Given the description of an element on the screen output the (x, y) to click on. 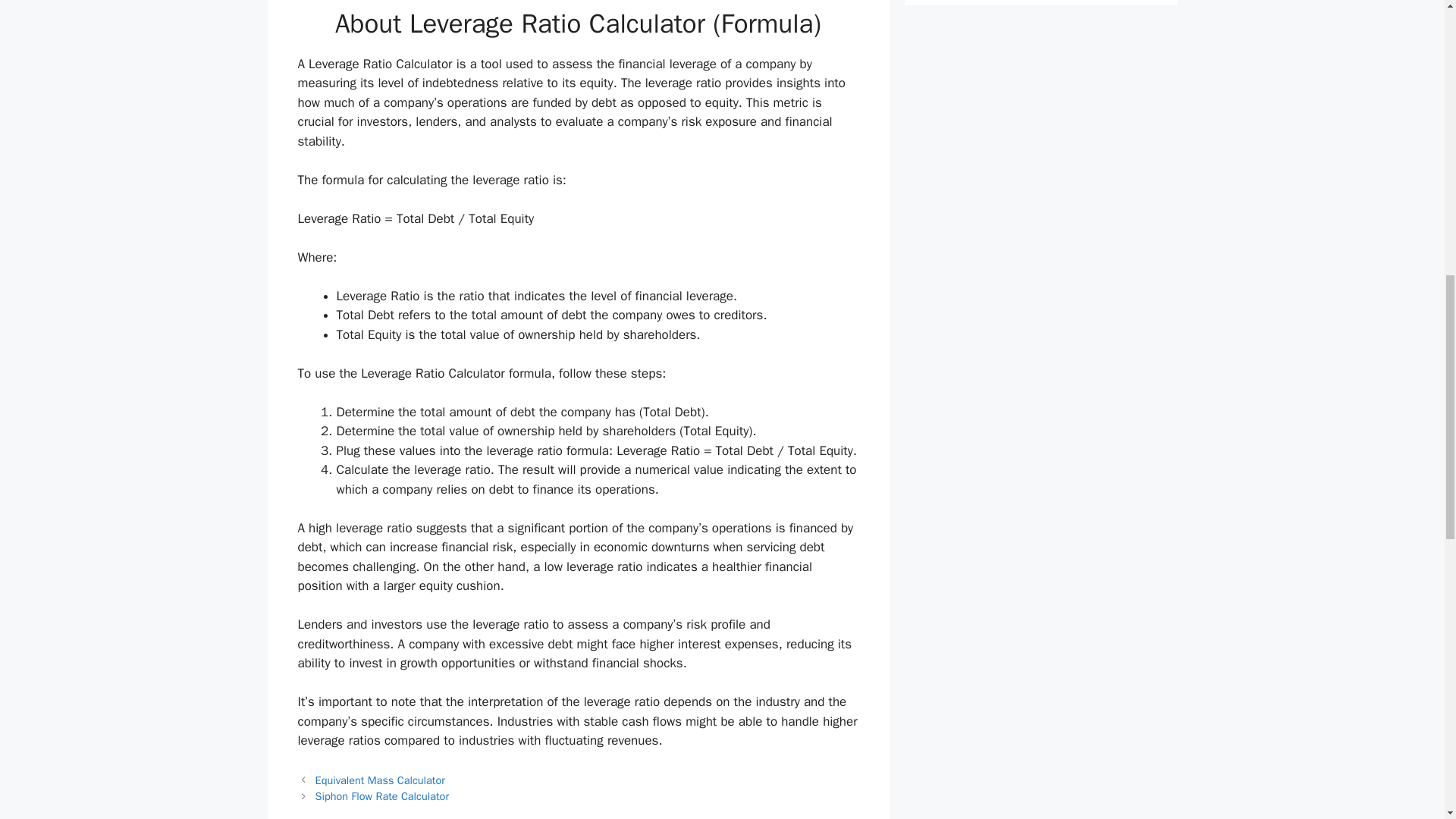
Siphon Flow Rate Calculator (381, 796)
Equivalent Mass Calculator (380, 780)
